Given the description of an element on the screen output the (x, y) to click on. 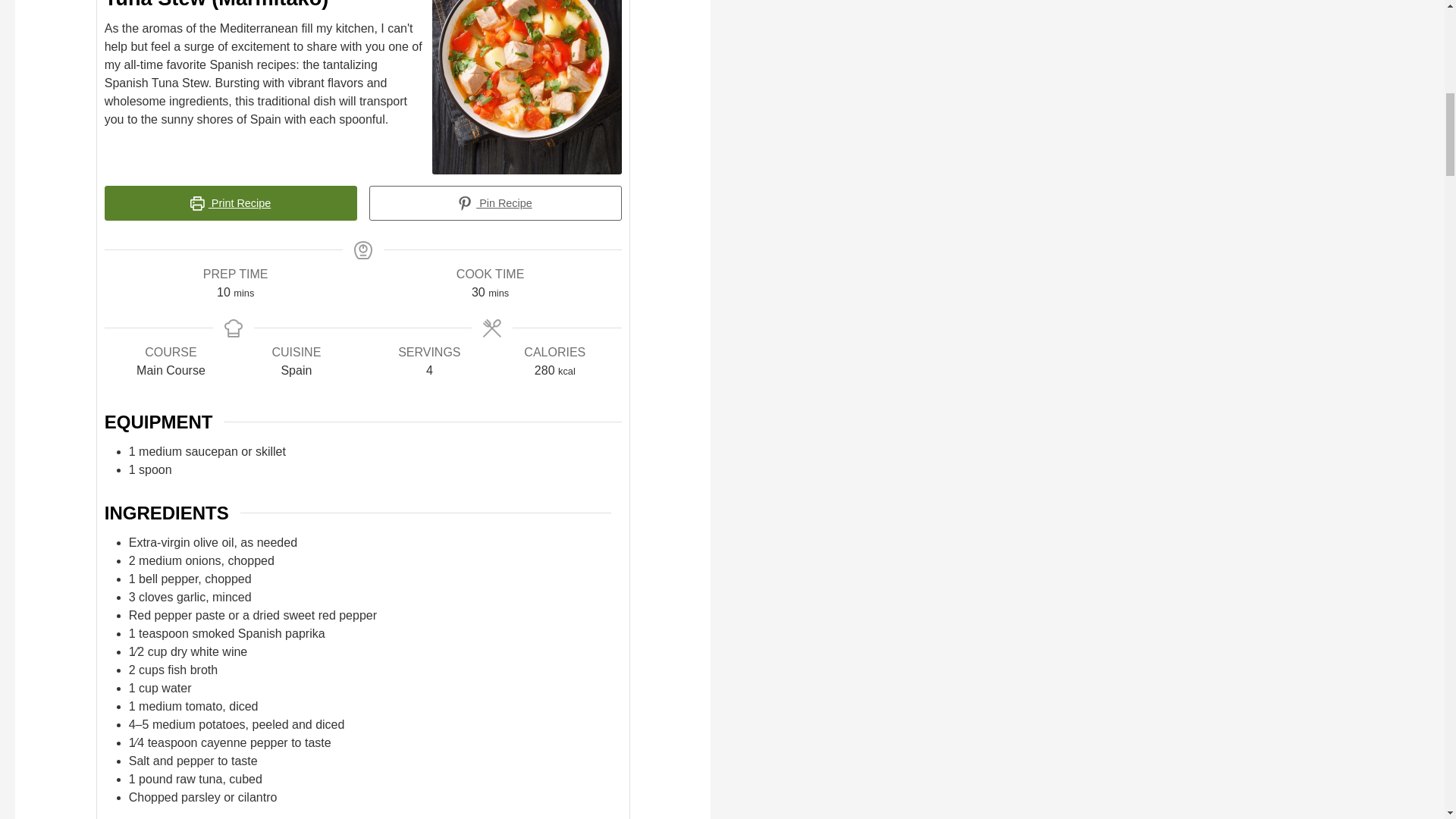
Print Recipe (230, 202)
Pin Recipe (495, 202)
